Given the description of an element on the screen output the (x, y) to click on. 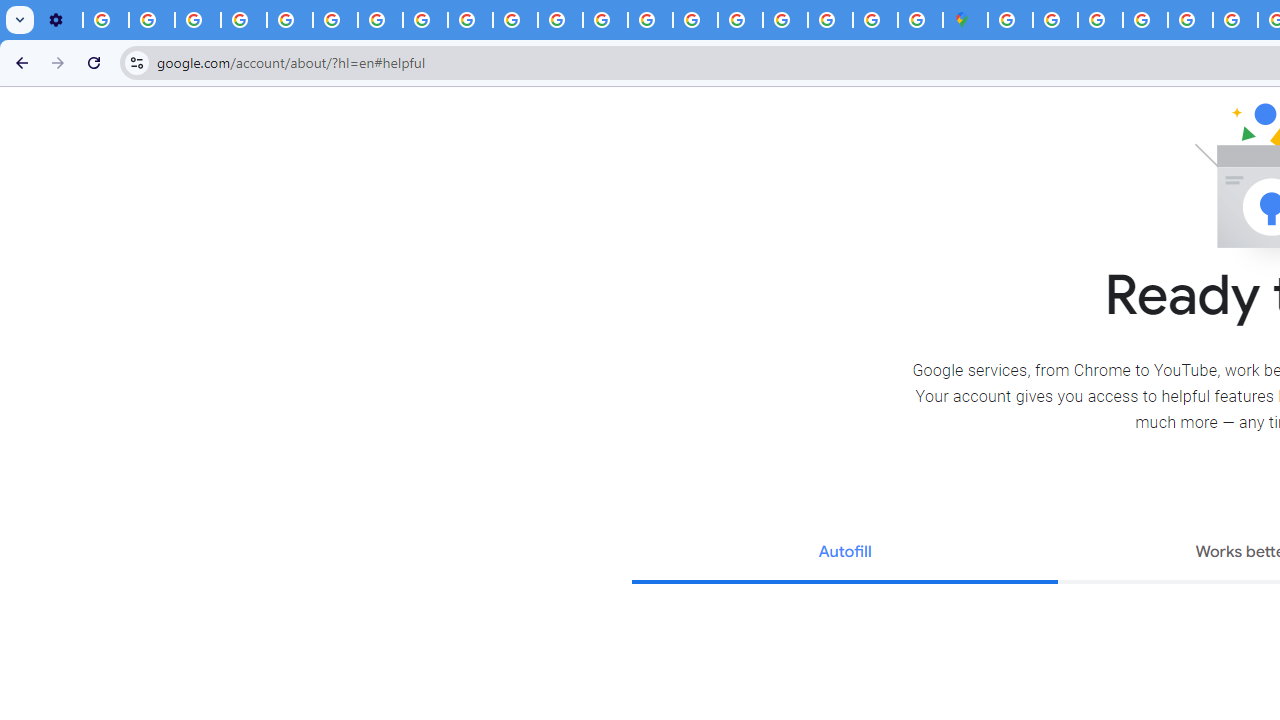
Privacy Help Center - Policies Help (290, 20)
Sign in - Google Accounts (1010, 20)
Terms and Conditions (1190, 20)
Delete photos & videos - Computer - Google Photos Help (106, 20)
Sign in - Google Accounts (1055, 20)
Google Maps (965, 20)
